Given the description of an element on the screen output the (x, y) to click on. 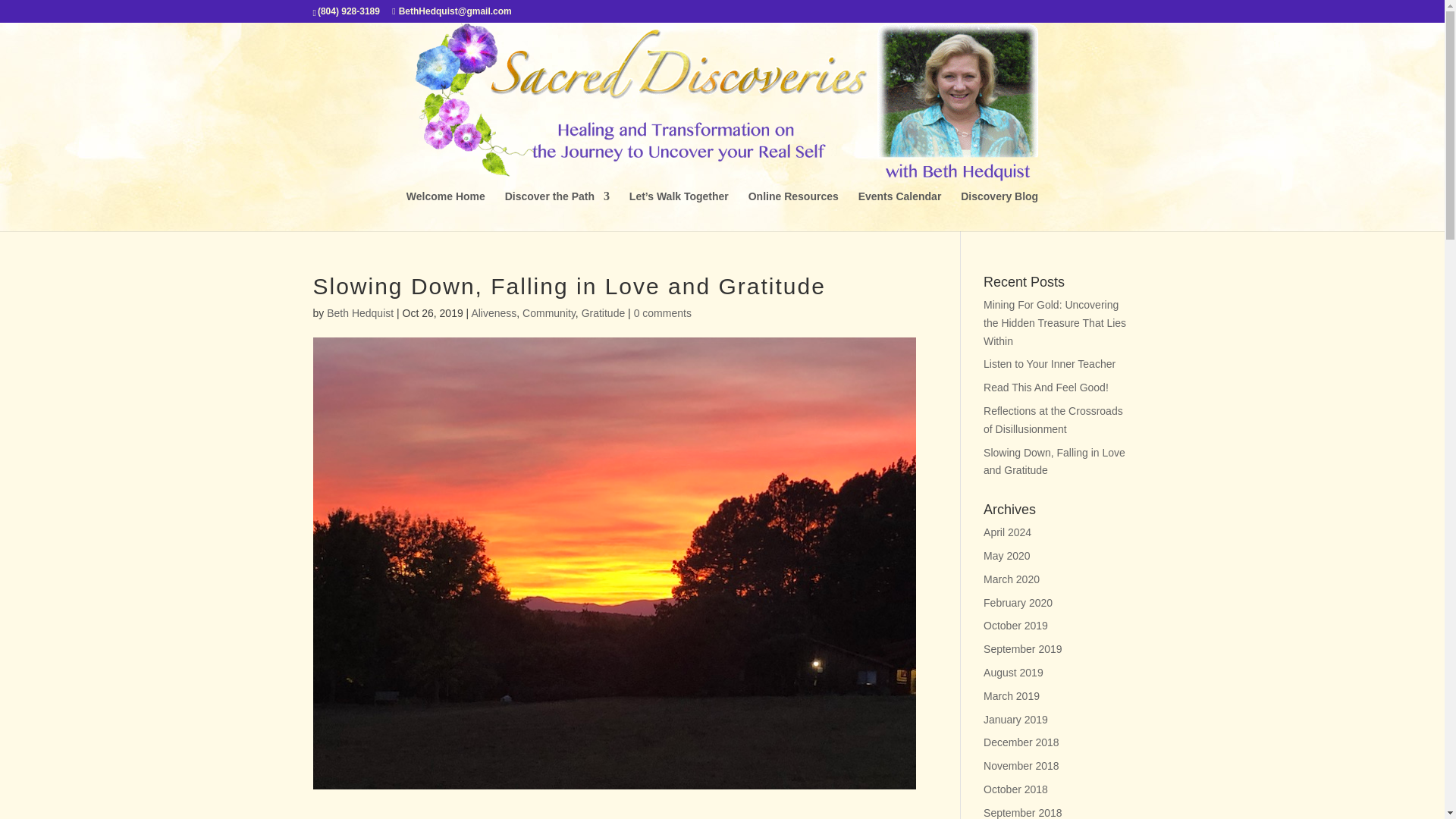
March 2020 (1011, 579)
Welcome Home (445, 210)
Aliveness (493, 313)
Slowing Down, Falling in Love and Gratitude (1054, 461)
August 2019 (1013, 672)
Discover the Path (557, 210)
September 2018 (1023, 812)
October 2019 (1016, 625)
0 comments (662, 313)
January 2019 (1016, 719)
Discovery Blog (999, 210)
December 2018 (1021, 742)
Listen to Your Inner Teacher (1049, 363)
October 2018 (1016, 788)
Beth Hedquist (359, 313)
